Given the description of an element on the screen output the (x, y) to click on. 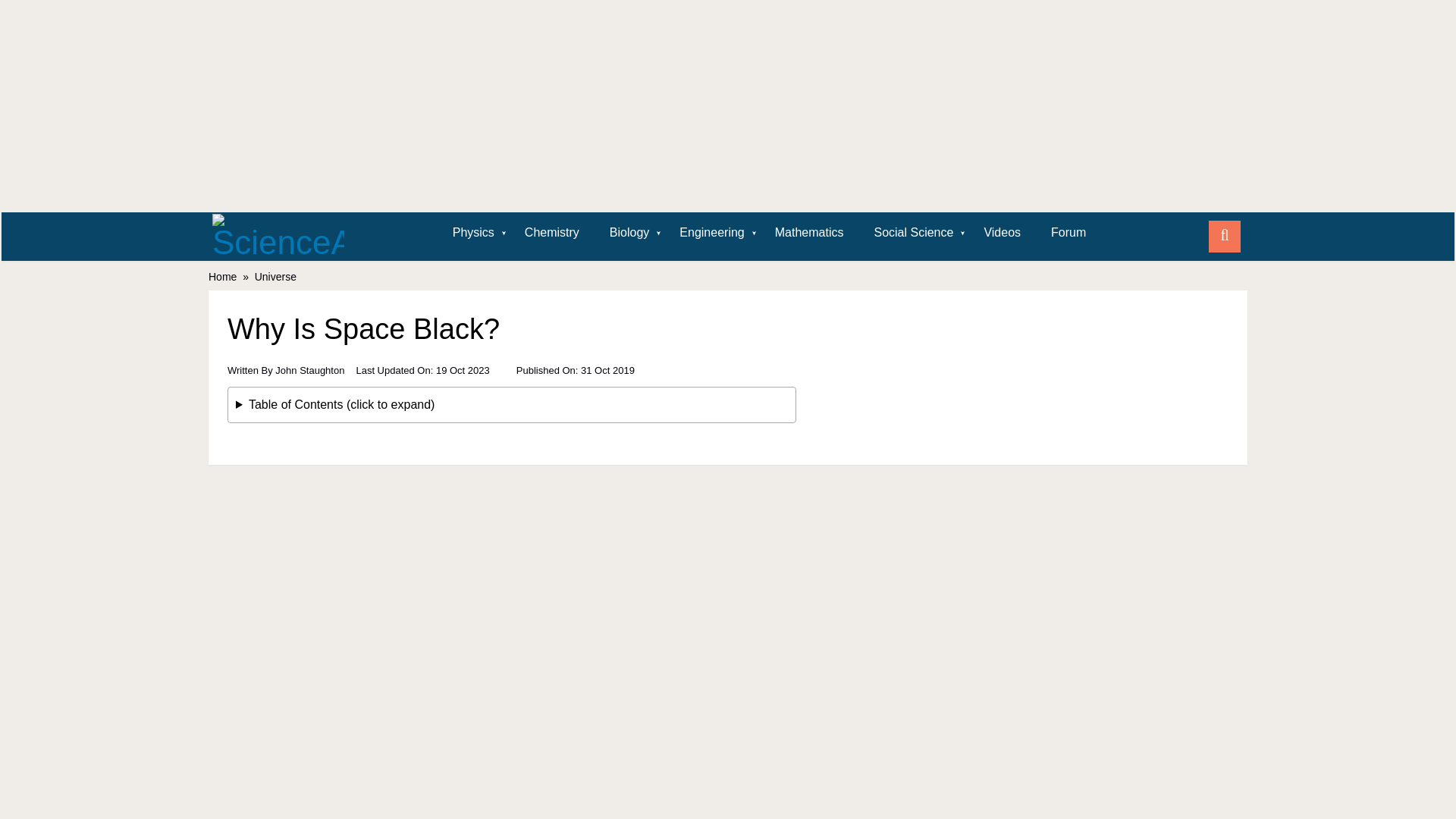
Physics (473, 232)
Why Is Space Black? (511, 373)
Engineering (710, 232)
Forum (1067, 232)
Social Science (913, 232)
Chemistry (551, 232)
Videos (1001, 232)
Mathematics (809, 232)
Biology (628, 232)
